Given the description of an element on the screen output the (x, y) to click on. 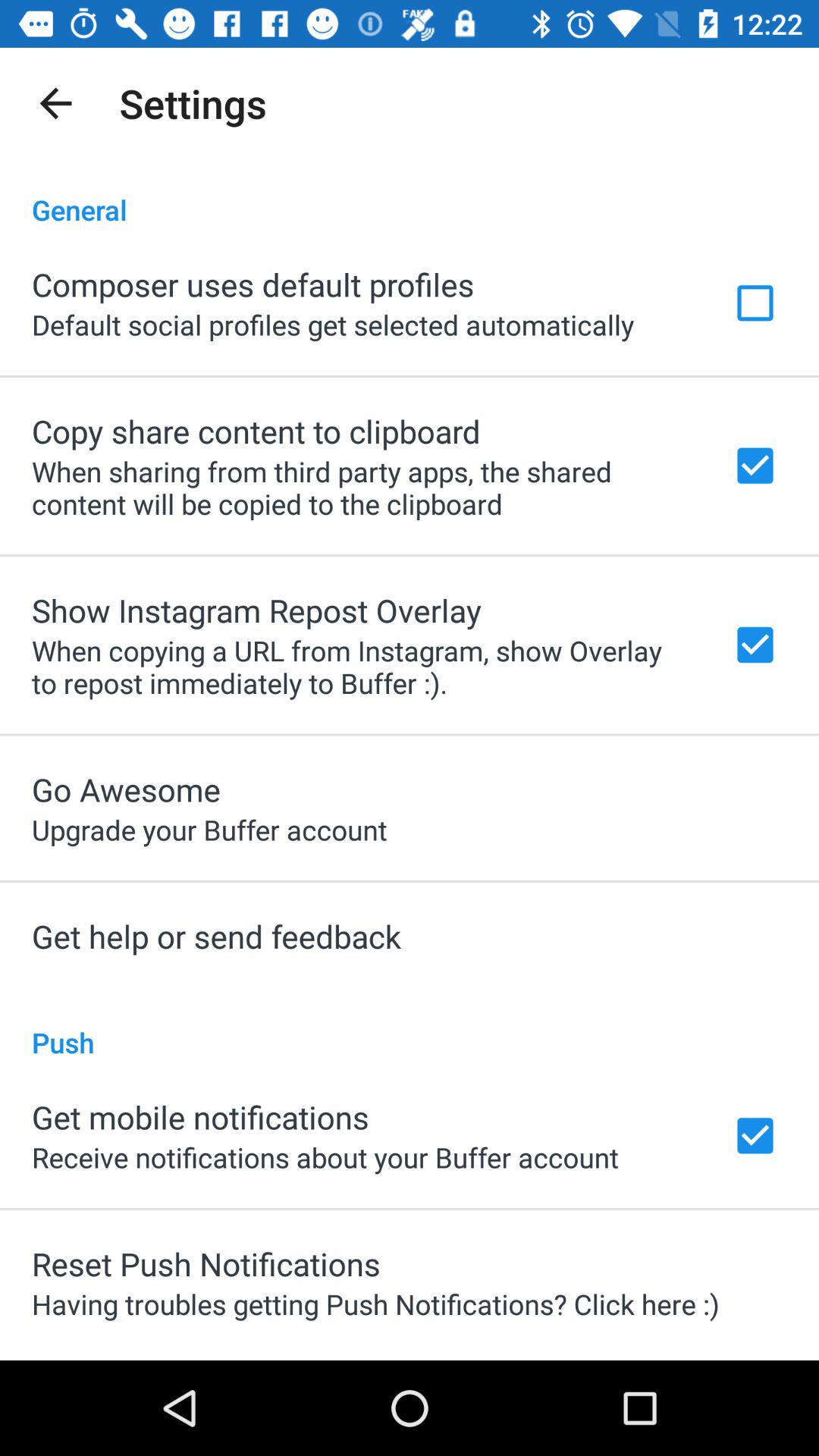
tap the icon to the left of the settings icon (55, 103)
